Given the description of an element on the screen output the (x, y) to click on. 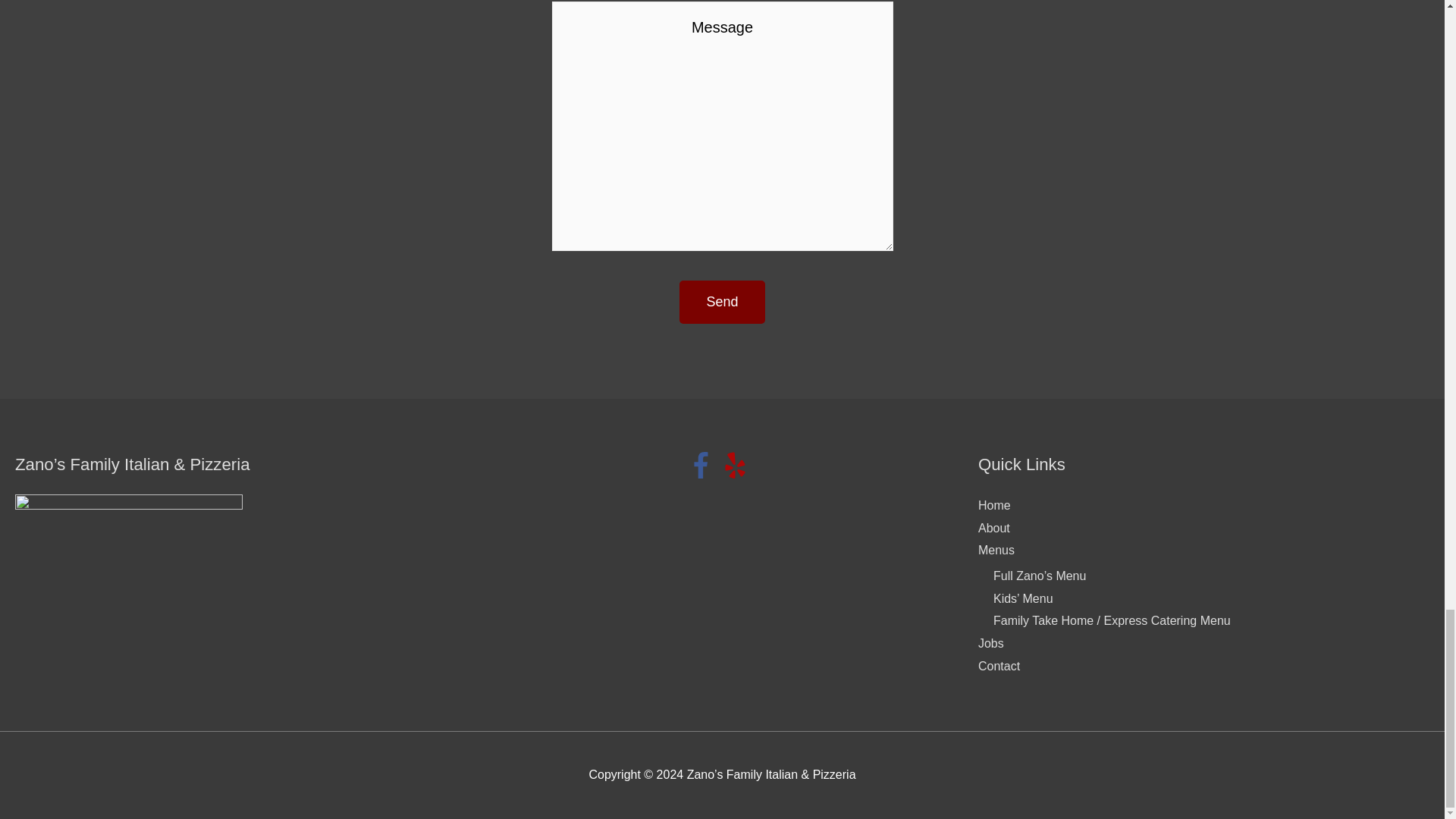
Send (721, 301)
Send (721, 301)
Home (994, 504)
Menus (996, 549)
About (994, 527)
Contact (999, 666)
Jobs (991, 643)
